Given the description of an element on the screen output the (x, y) to click on. 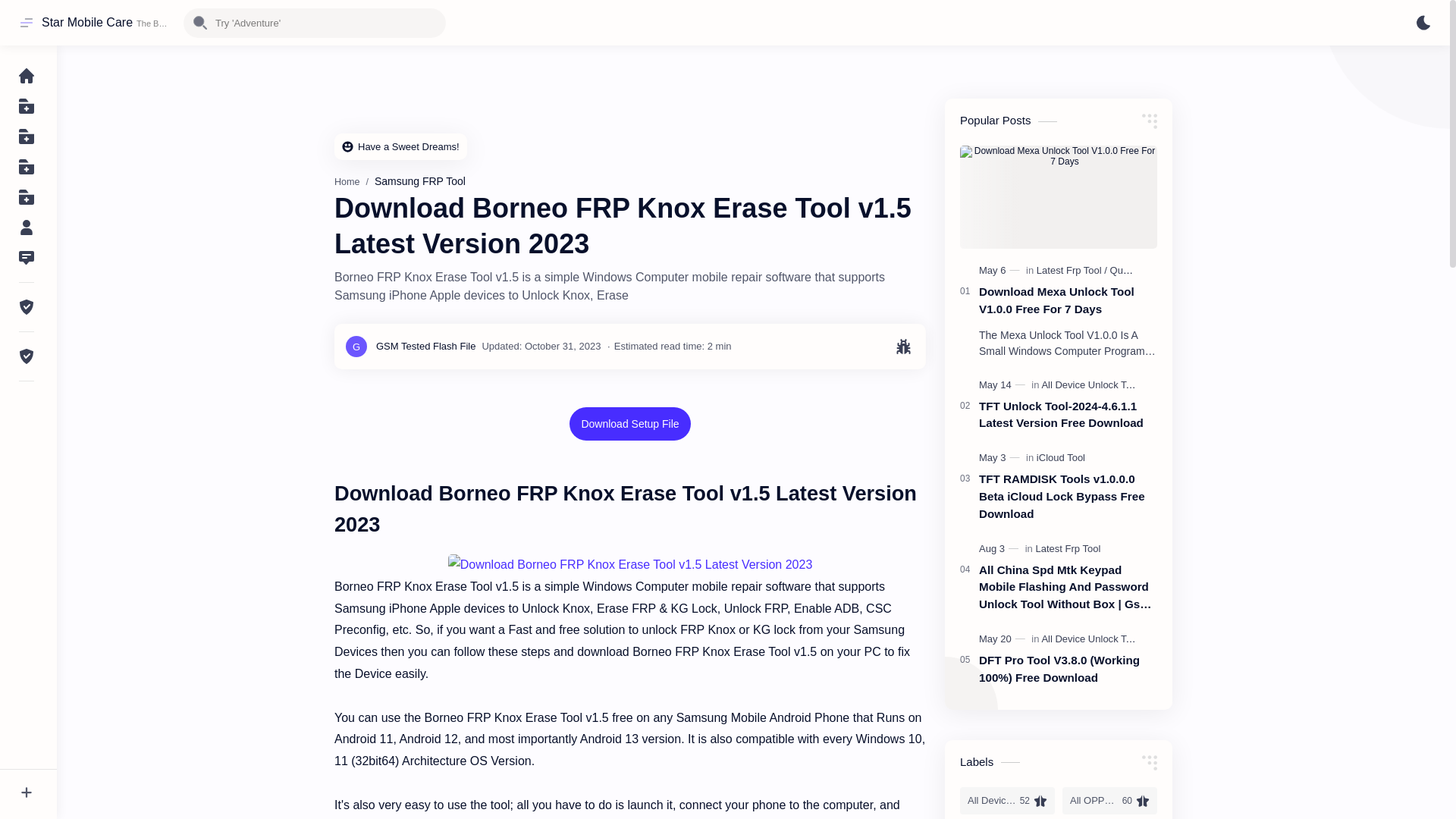
Home (346, 181)
Samsung FRP Tool (419, 181)
Star Mobile Care (87, 22)
Download Borneo FRP Knox Erase Tool v1.5 Latest Version 2023 (630, 565)
Last updated: October 31, 2023 (540, 346)
Download Setup File (629, 423)
